Given the description of an element on the screen output the (x, y) to click on. 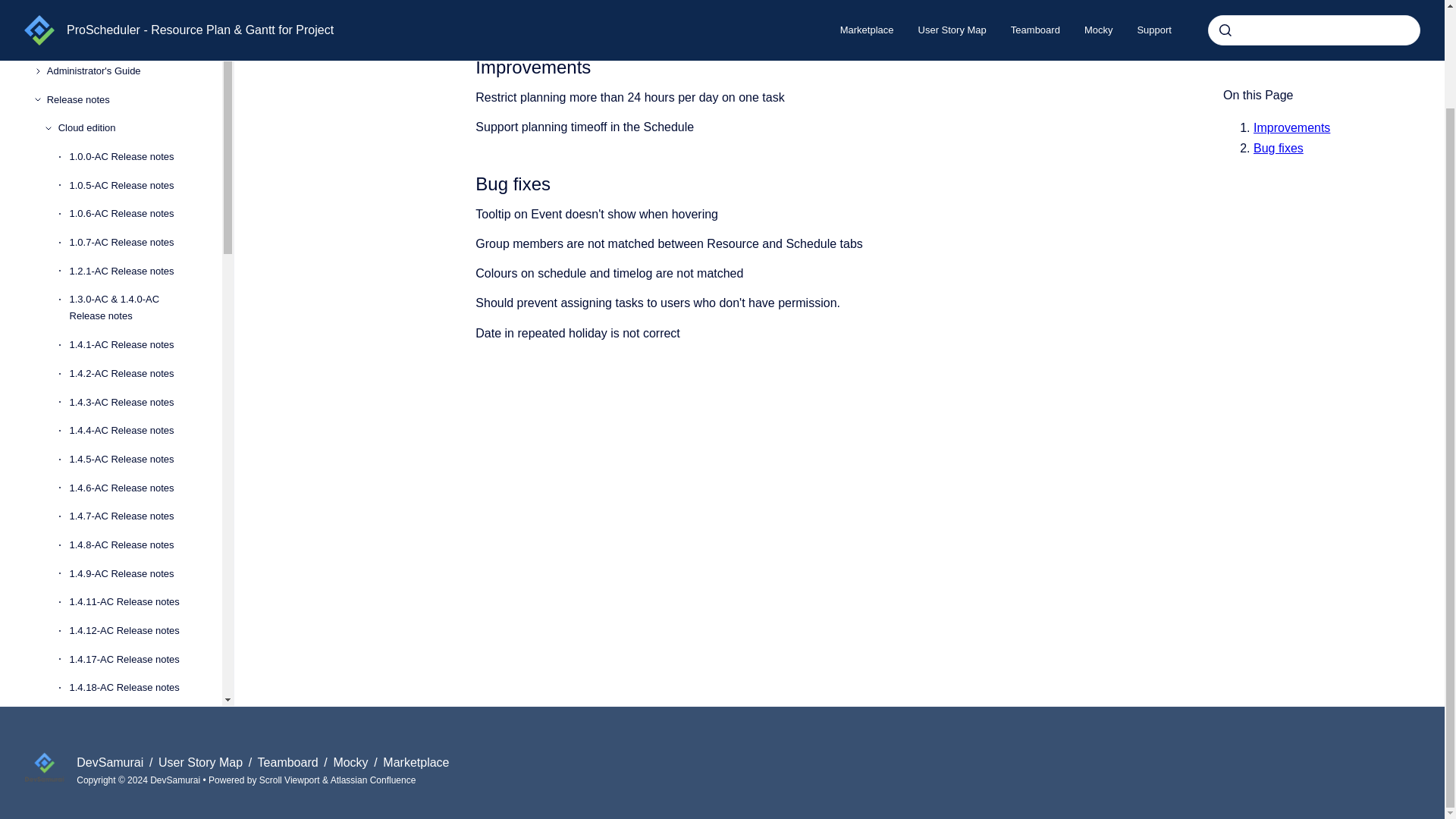
1.4.8-AC Release notes (133, 544)
1.0.7-AC Release notes (133, 242)
1.2.1-AC Release notes (133, 271)
1.0.6-AC Release notes (133, 213)
1.4.2-AC Release notes (133, 373)
1.0.5-AC Release notes (133, 185)
1.4.5-AC Release notes (133, 459)
1.4.3-AC Release notes (133, 402)
1.4.17-AC Release notes (133, 659)
1.4.11-AC Release notes (133, 602)
1.4.7-AC Release notes (133, 515)
1.4.1-AC Release notes (133, 344)
1.4.9-AC Release notes (133, 574)
1.4.12-AC Release notes (133, 630)
Release notes (122, 99)
